Given the description of an element on the screen output the (x, y) to click on. 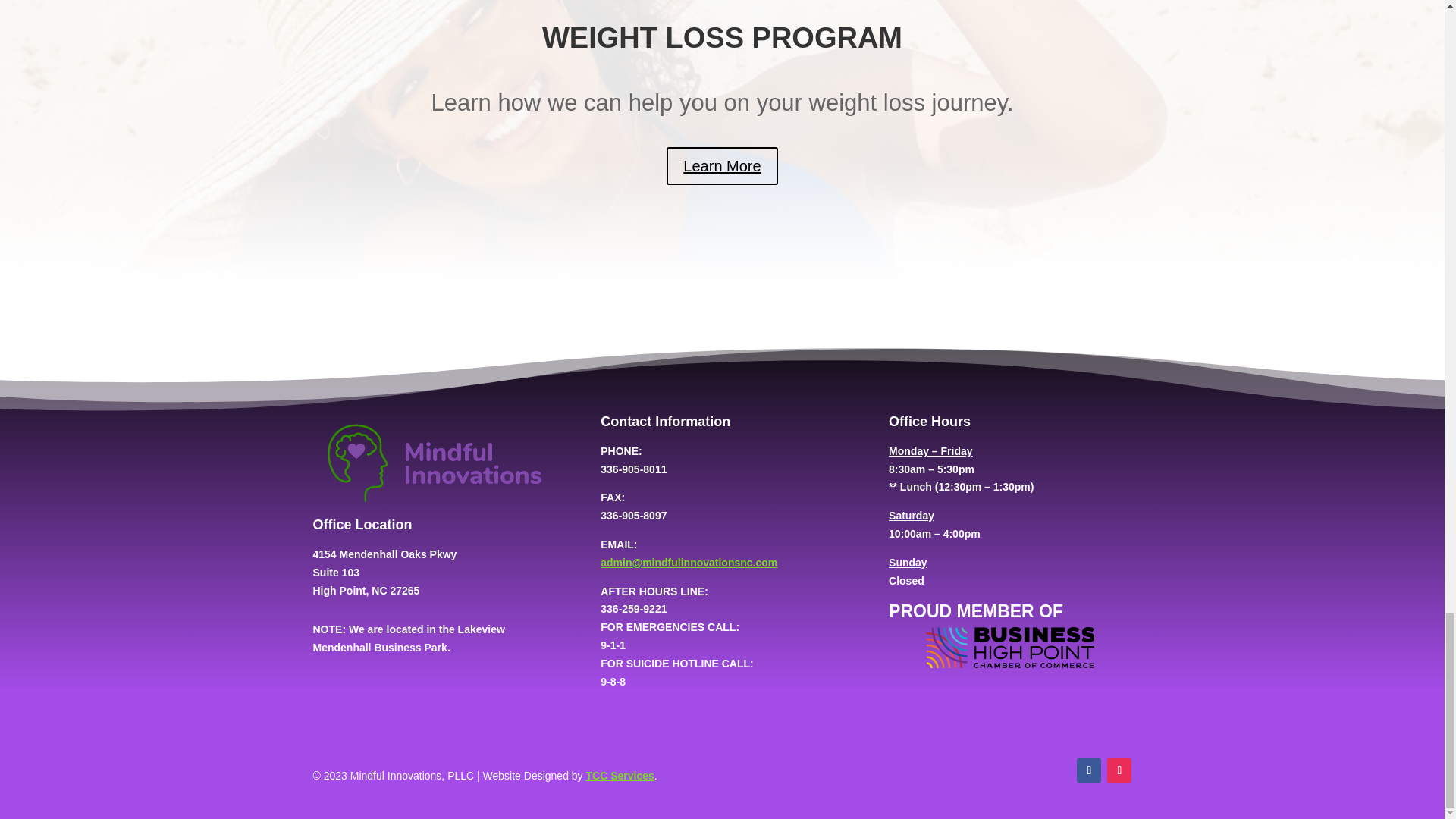
Learn More (721, 166)
Follow on Facebook (1088, 769)
Follow on Instagram (1118, 769)
TCC Services (619, 775)
TCC Services (619, 775)
Mindful Innovations (433, 464)
